Given the description of an element on the screen output the (x, y) to click on. 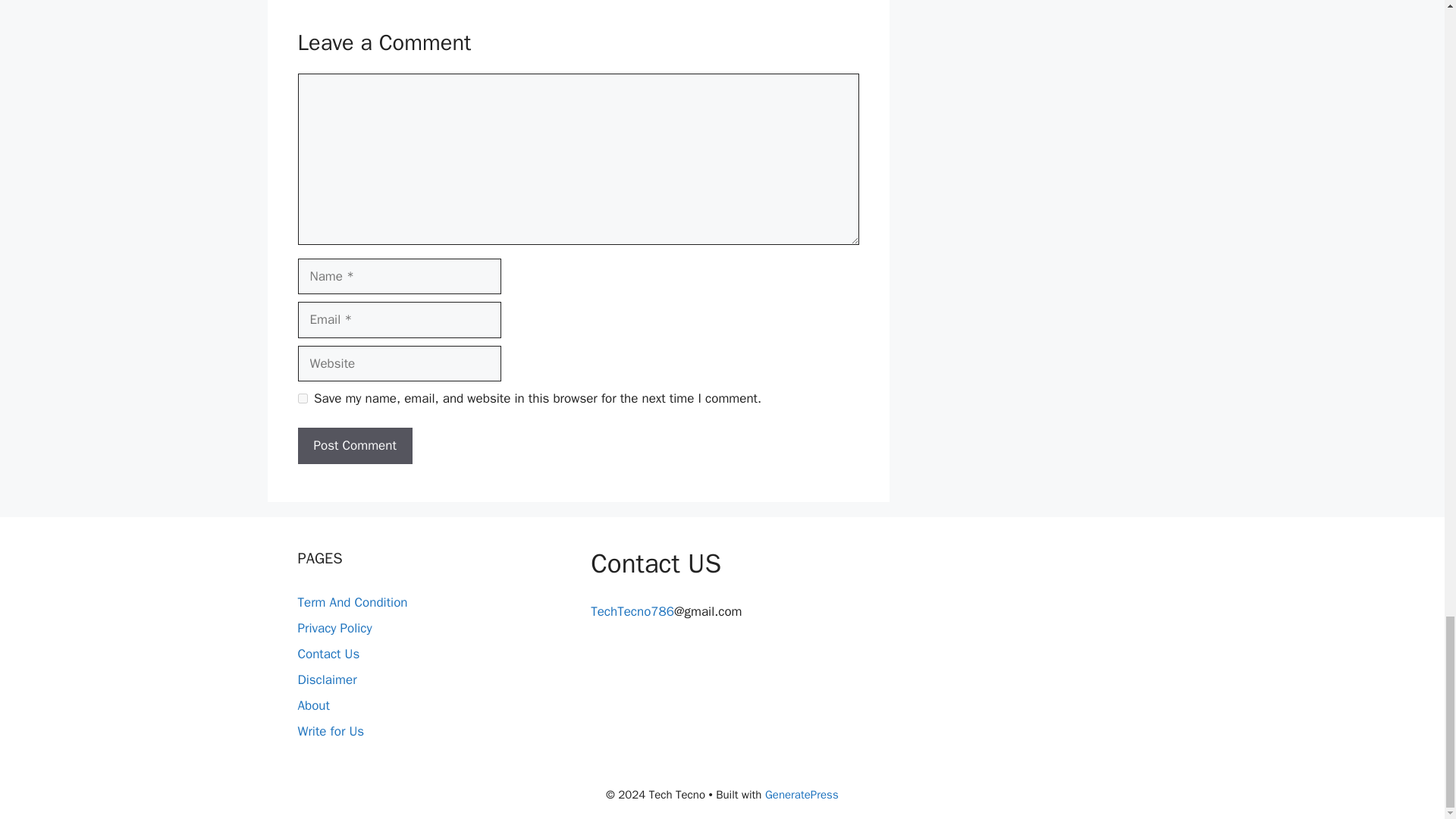
yes (302, 398)
Post Comment (354, 445)
Post Comment (354, 445)
